Given the description of an element on the screen output the (x, y) to click on. 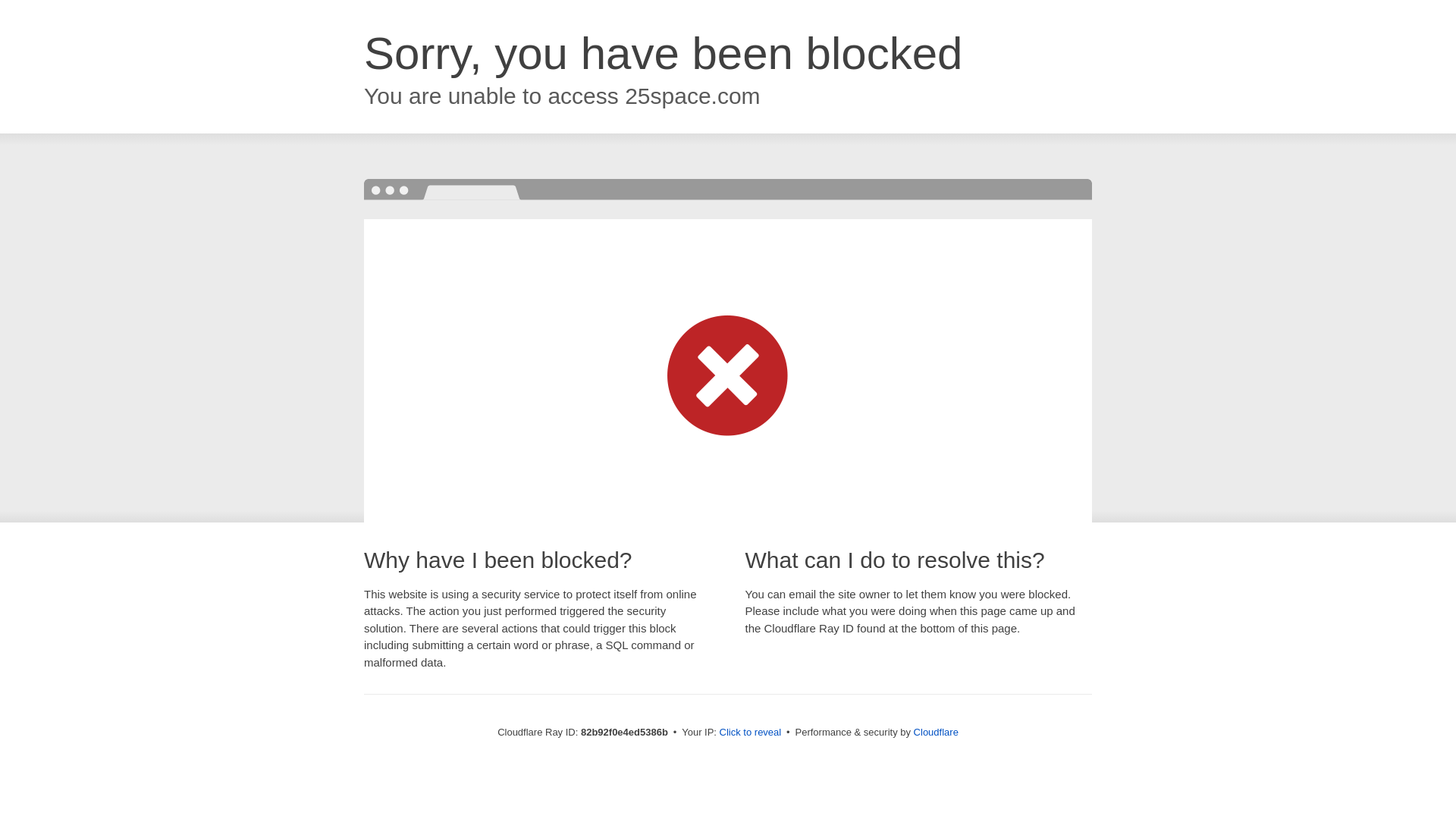
Click to reveal Element type: text (750, 732)
Cloudflare Element type: text (935, 731)
